Given the description of an element on the screen output the (x, y) to click on. 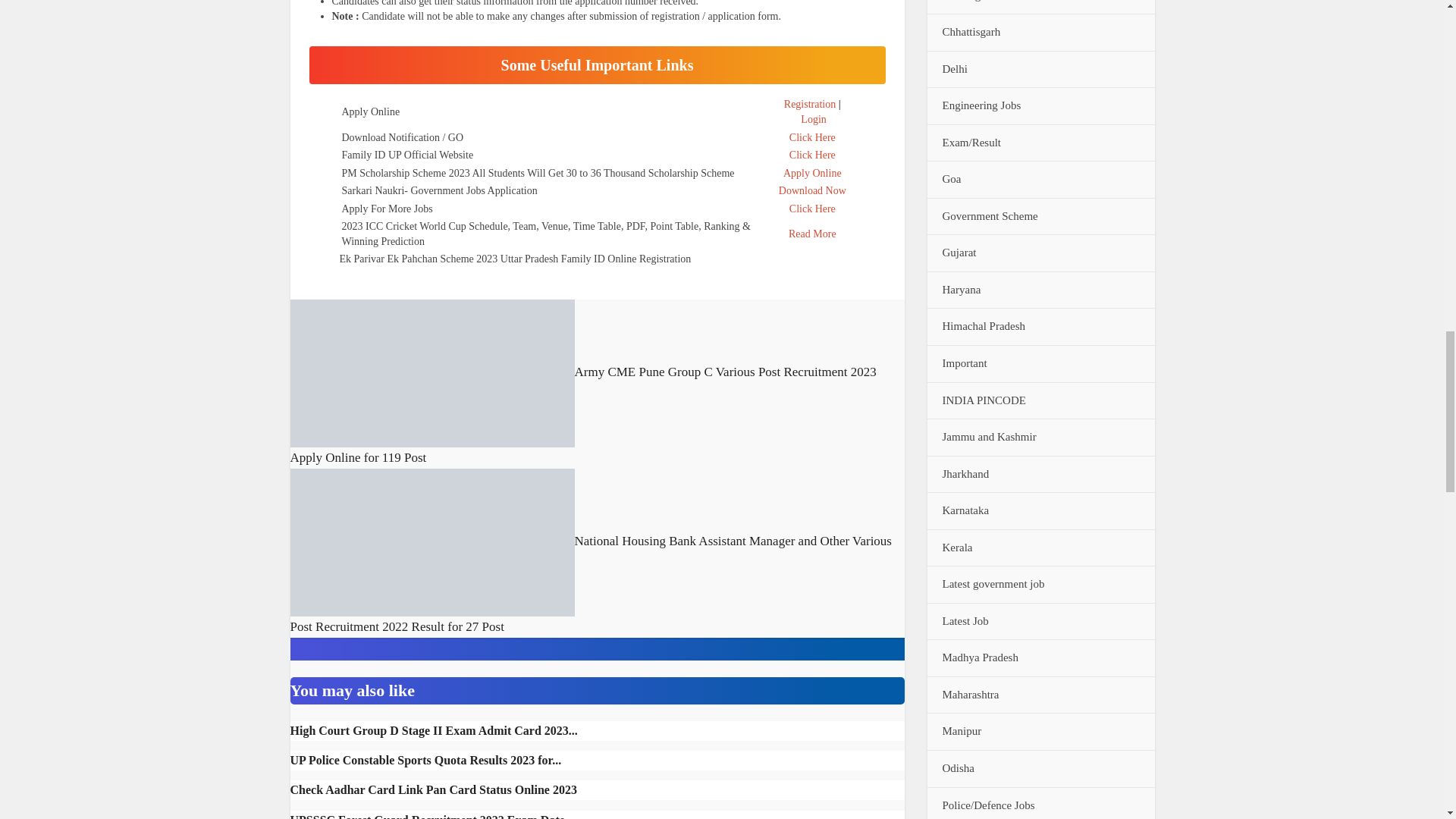
Read More (812, 233)
UPSSSC Forest Guard Recruitment 2022 Exam Date... (431, 816)
High Court Group D Stage II Exam Admit Card 2023... (432, 730)
Apply Online (812, 173)
Check Aadhar Card Link Pan Card Status Online 2023 (432, 789)
Login (812, 119)
